Given the description of an element on the screen output the (x, y) to click on. 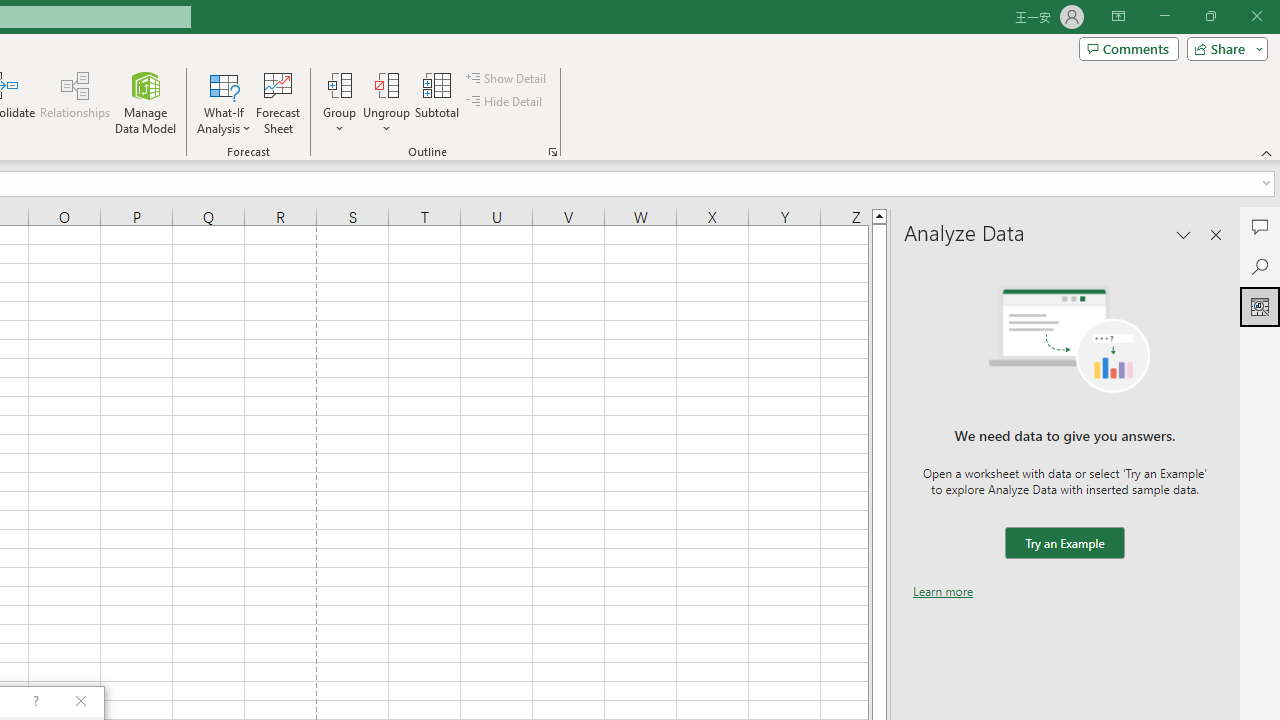
Task Pane Options (1183, 234)
Group and Outline Settings (552, 151)
Ungroup... (386, 102)
Show Detail (507, 78)
Close pane (1215, 234)
Relationships (75, 102)
We need data to give you answers. Try an Example (1064, 543)
Hide Detail (505, 101)
